Given the description of an element on the screen output the (x, y) to click on. 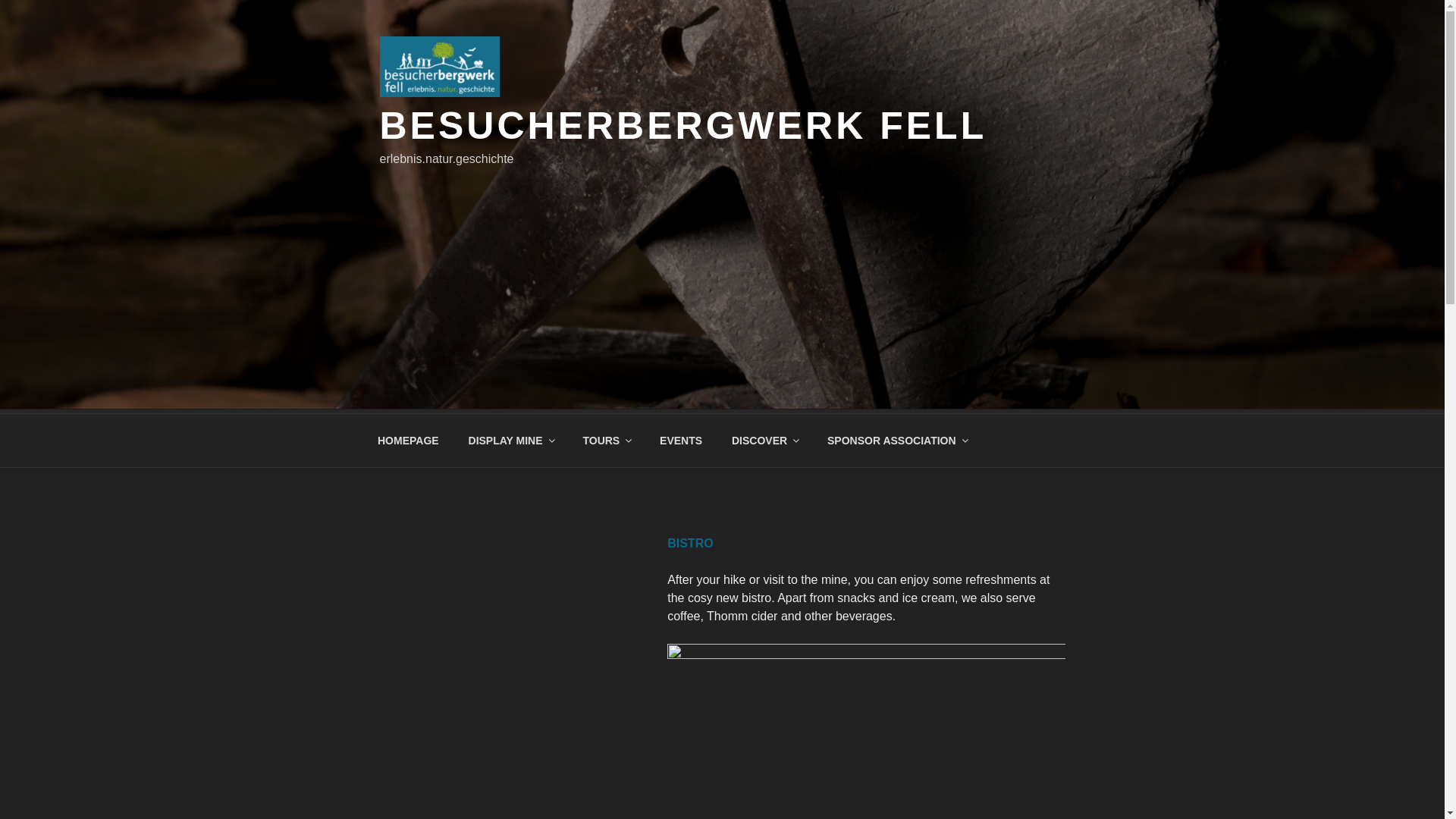
BESUCHERBERGWERK FELL (682, 125)
HOMEPAGE (407, 439)
DISPLAY MINE (510, 439)
EVENTS (681, 439)
DISCOVER (764, 439)
SPONSOR ASSOCIATION (896, 439)
TOURS (606, 439)
